Given the description of an element on the screen output the (x, y) to click on. 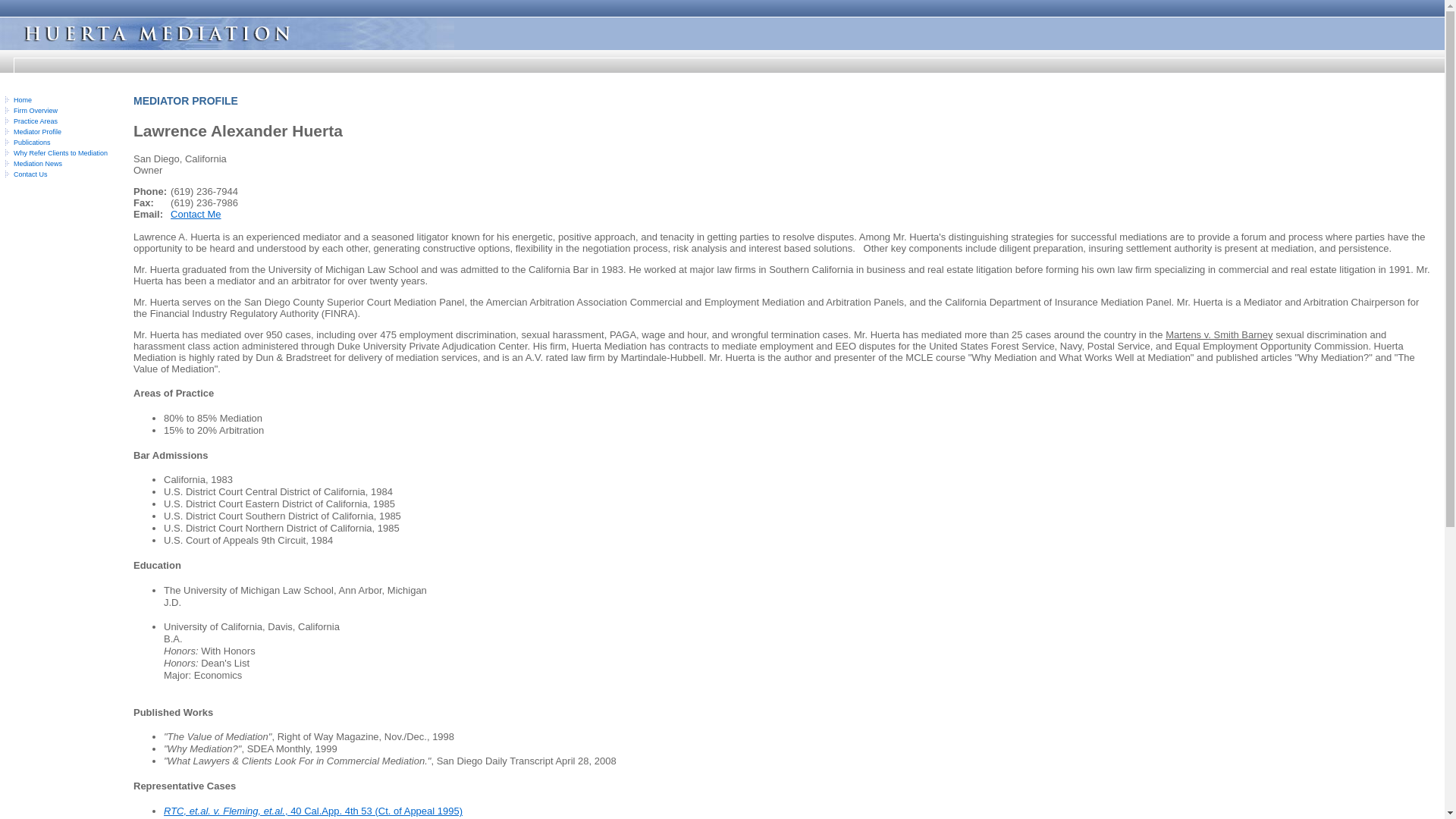
Firm Overview (35, 110)
Contact Me (195, 214)
Practice Areas (35, 121)
Why Refer Clients to Mediation (60, 153)
Home (22, 100)
Mediation News (37, 163)
Publications (31, 142)
Mediator Profile (37, 131)
Contact Us (30, 174)
